Given the description of an element on the screen output the (x, y) to click on. 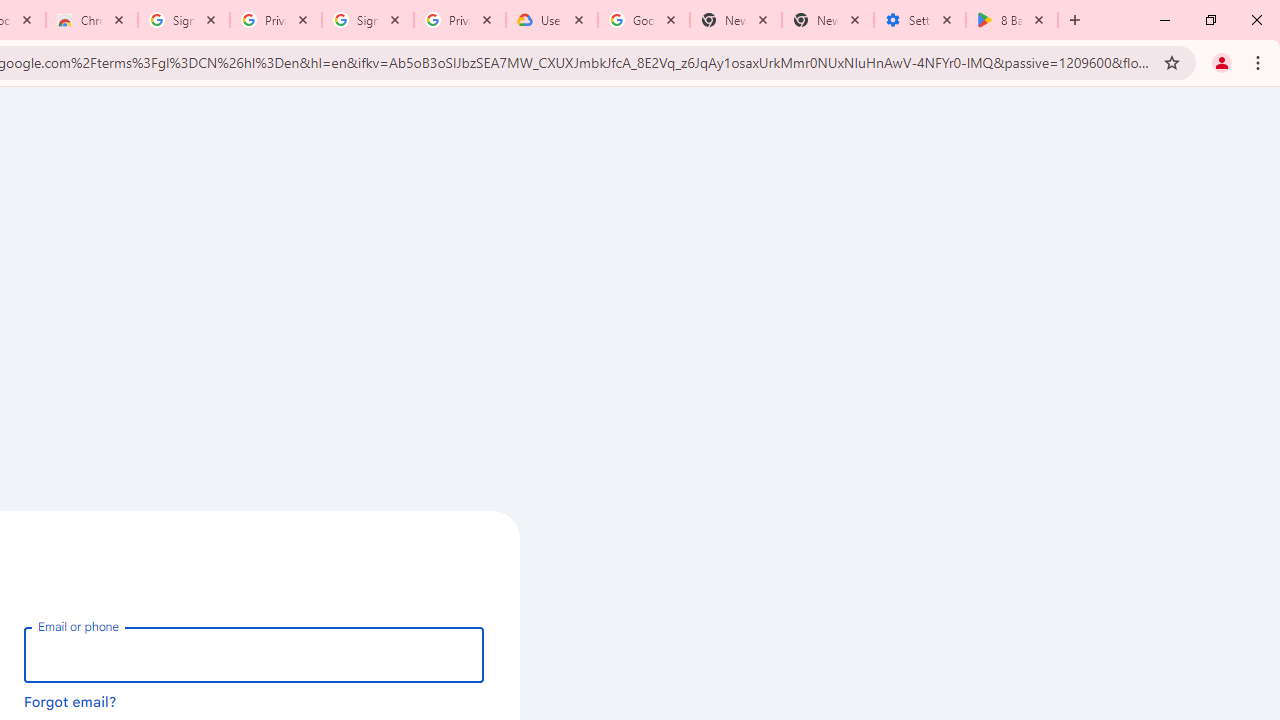
Forgot email? (70, 701)
Email or phone (253, 654)
